Given the description of an element on the screen output the (x, y) to click on. 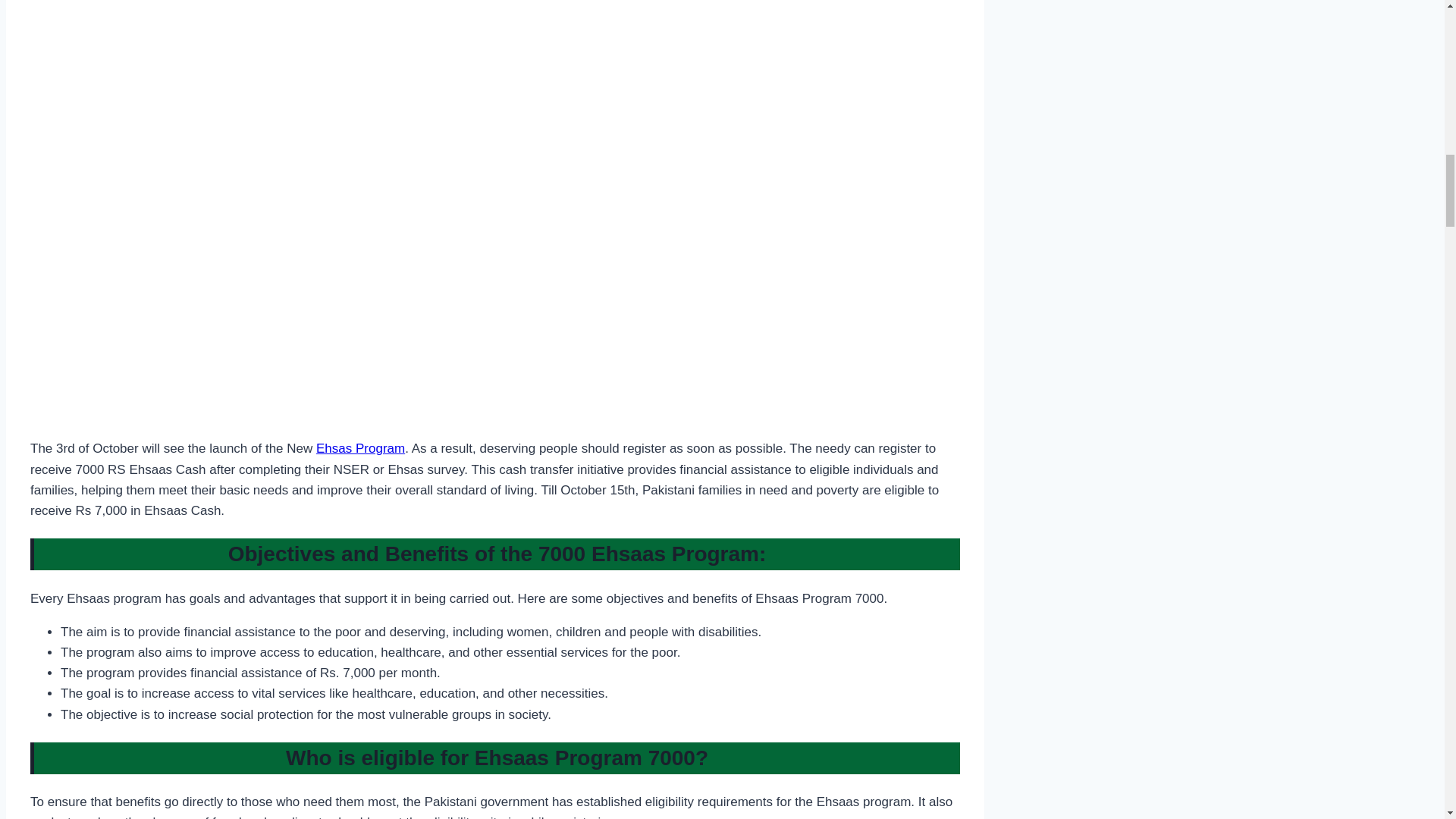
Ehsas Program (359, 448)
